Given the description of an element on the screen output the (x, y) to click on. 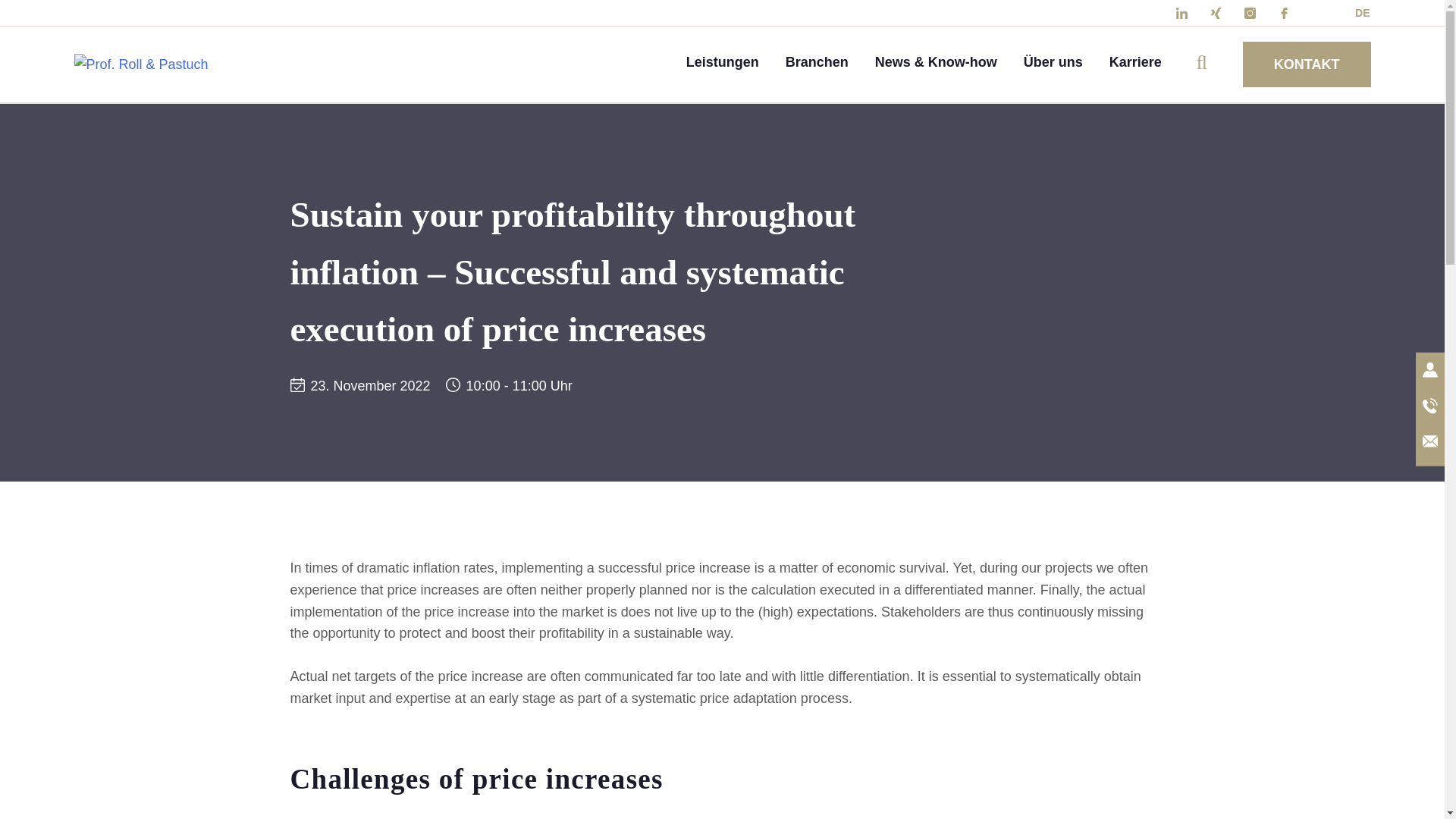
DE (1359, 12)
Branchen (817, 62)
Leistungen (721, 62)
